Given the description of an element on the screen output the (x, y) to click on. 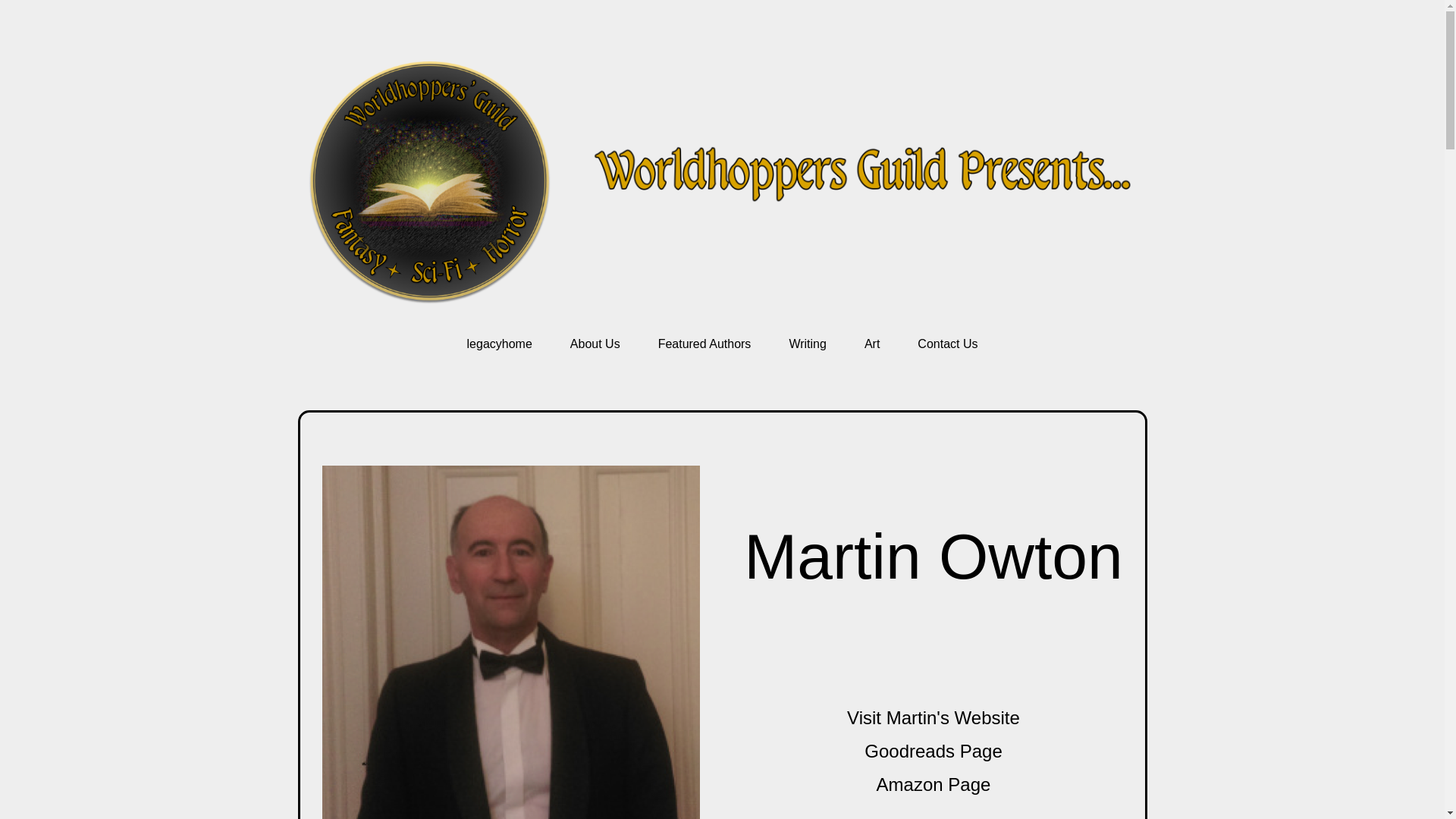
Art (871, 343)
Writing (807, 343)
Martin Owton (933, 556)
Amazon Page (933, 783)
legacyhome (499, 343)
Goodreads Page (932, 751)
Visit Martin's Website (933, 717)
About Us (595, 343)
Contact Us (946, 343)
Featured Authors (704, 343)
